Given the description of an element on the screen output the (x, y) to click on. 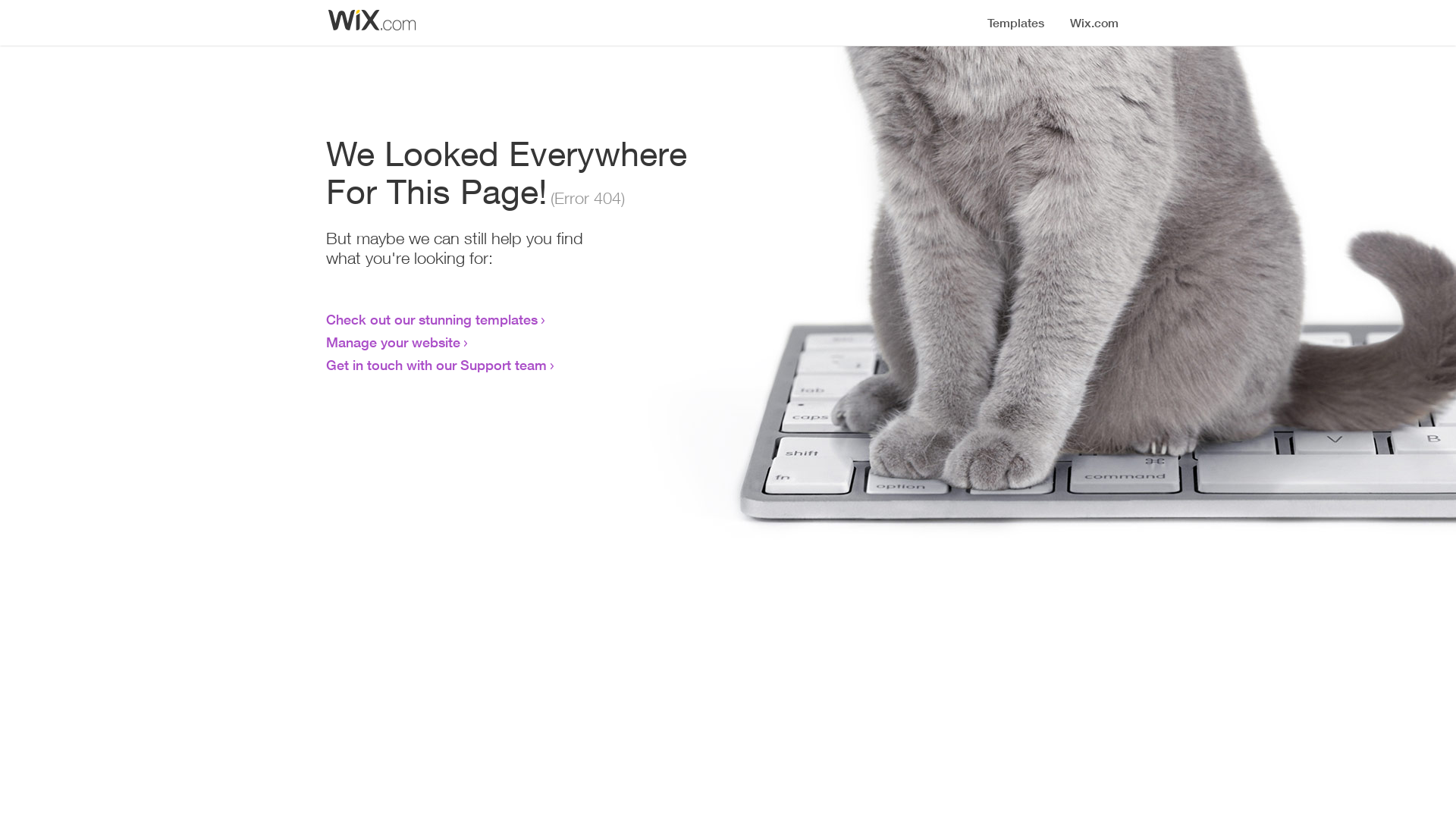
Check out our stunning templates Element type: text (431, 318)
Manage your website Element type: text (393, 341)
Get in touch with our Support team Element type: text (436, 364)
